Given the description of an element on the screen output the (x, y) to click on. 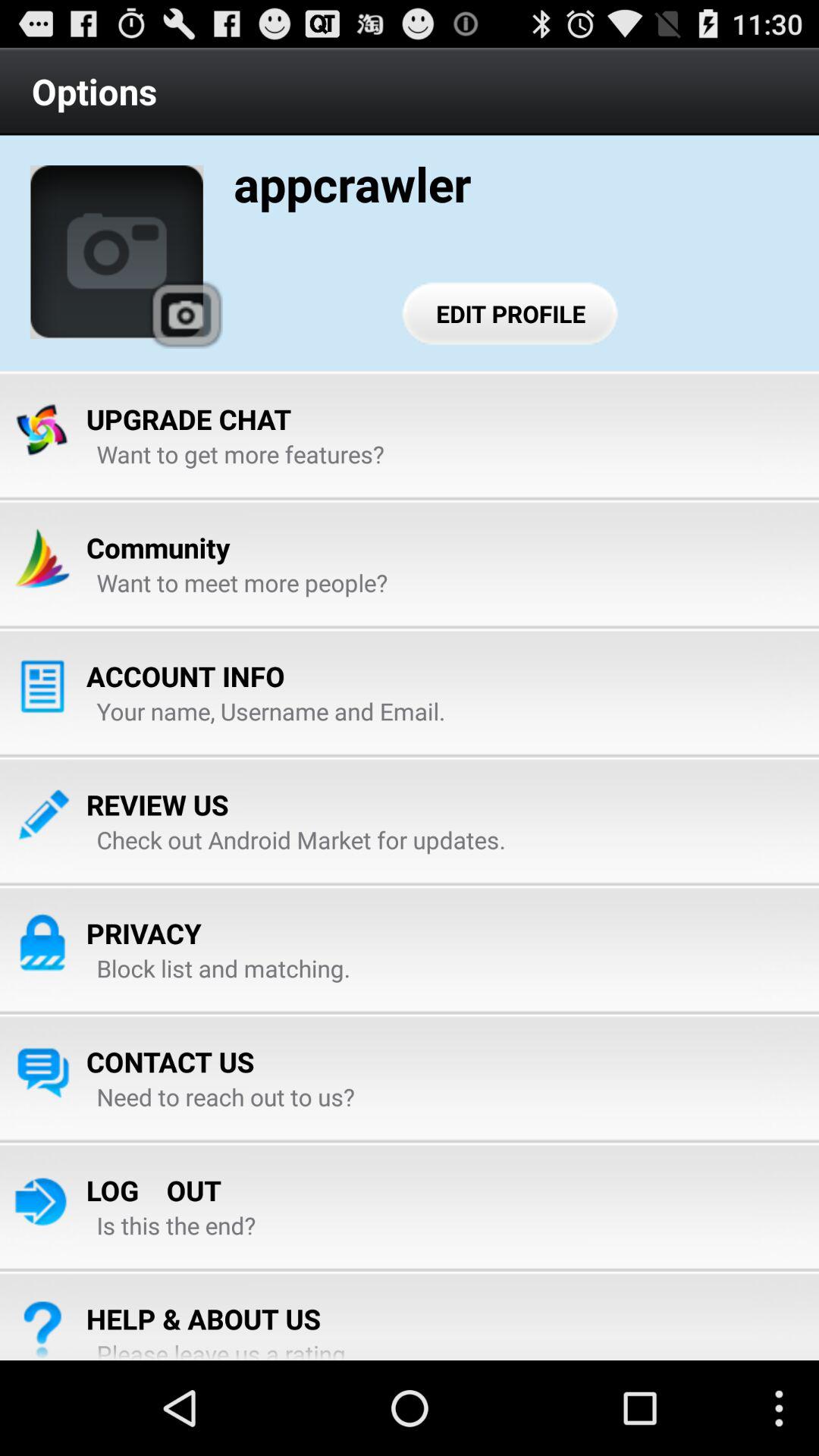
click the app above want to meet icon (158, 547)
